Given the description of an element on the screen output the (x, y) to click on. 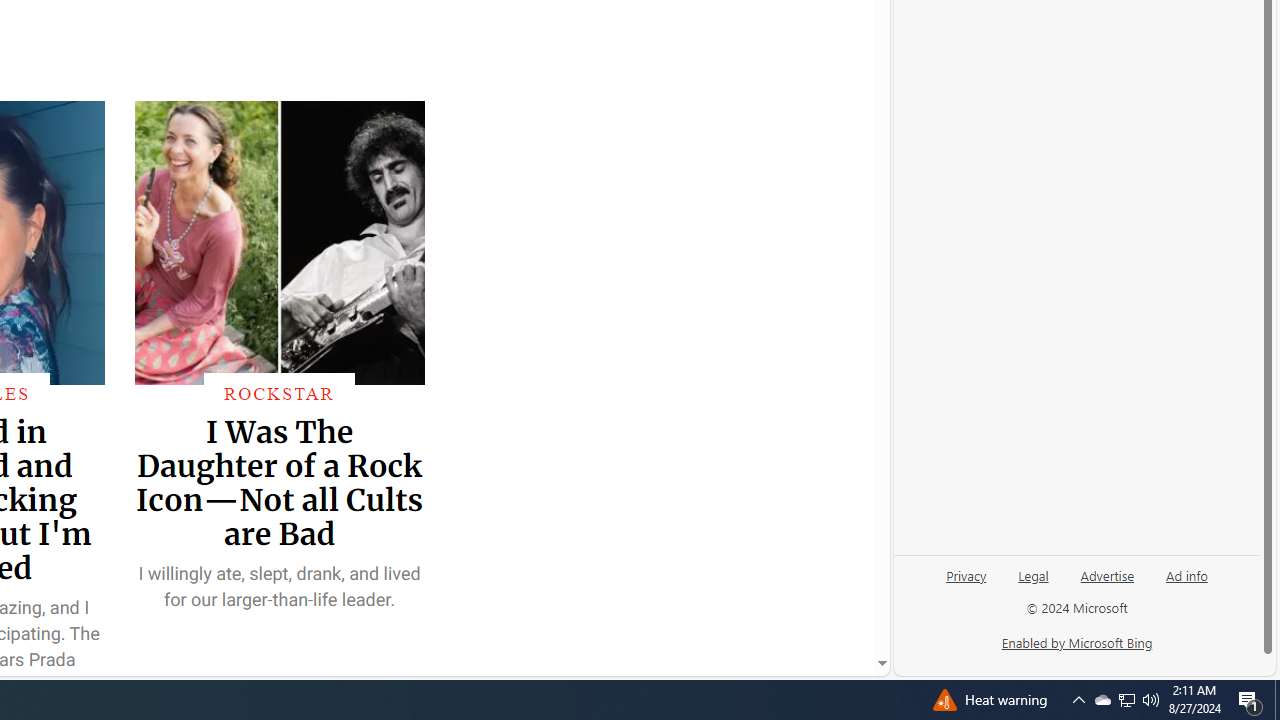
ROCKSTAR (279, 393)
Privacy (966, 583)
Ad info (1187, 574)
Action Center, 1 new notification (1250, 699)
